Given the description of an element on the screen output the (x, y) to click on. 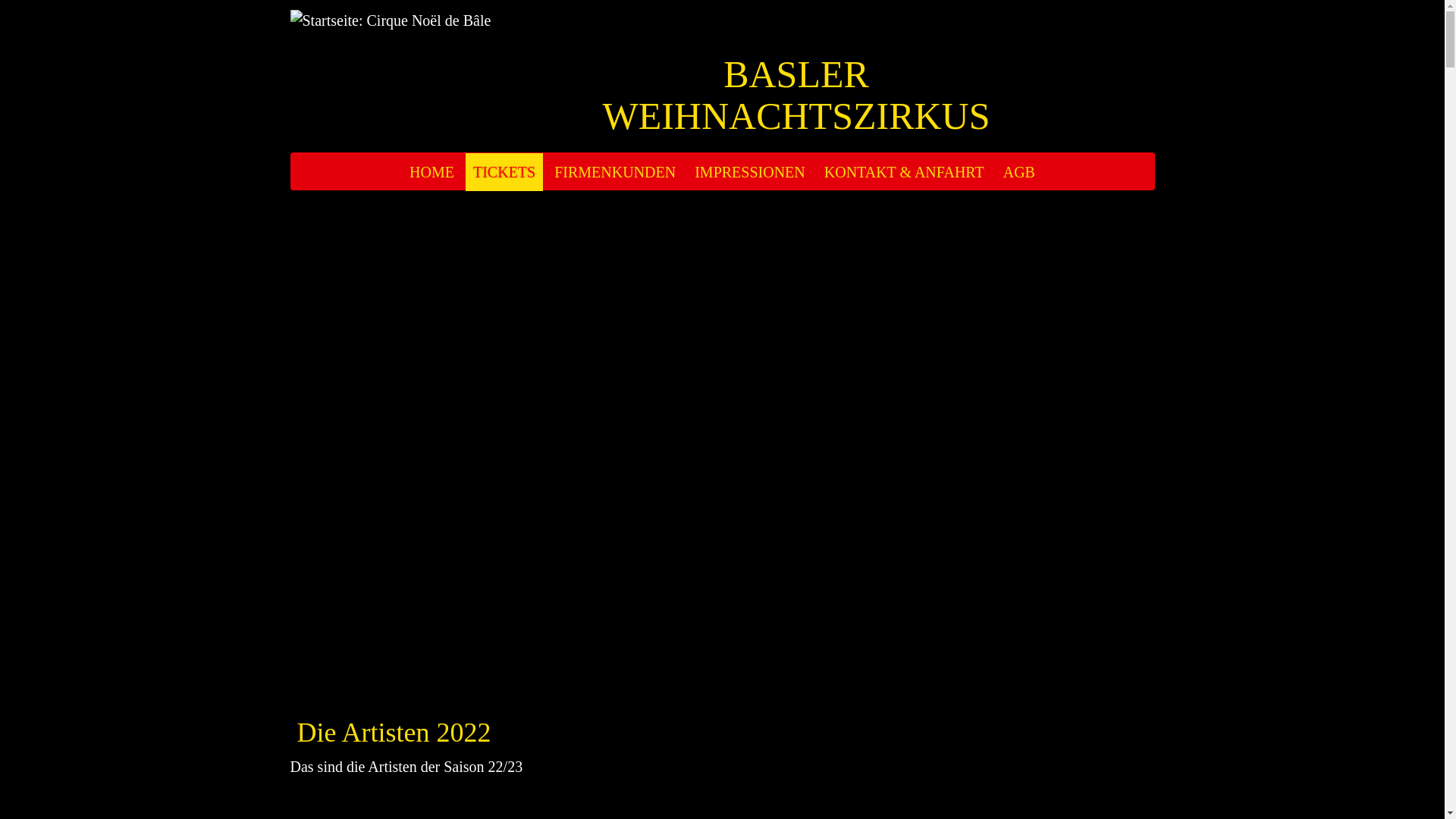
IMPRESSIONEN Element type: text (749, 172)
TICKETS Element type: text (503, 172)
KONTAKT & ANFAHRT Element type: text (903, 172)
AGB Element type: text (1018, 172)
FIRMENKUNDEN Element type: text (614, 172)
HOME Element type: text (431, 172)
